Given the description of an element on the screen output the (x, y) to click on. 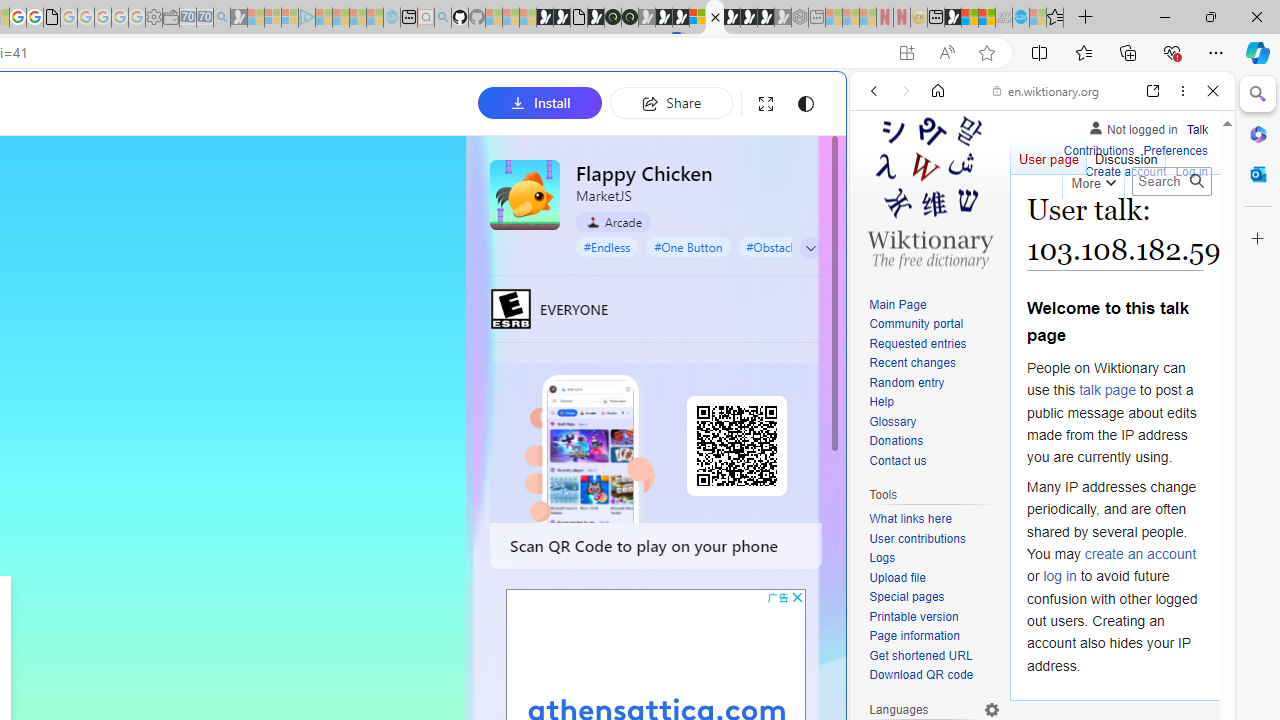
Play Cave FRVR in your browser | Games from Microsoft Start (663, 17)
Wiktionary (1034, 669)
Share (671, 102)
Help (881, 402)
This site scope (936, 180)
Close Customize pane (1258, 239)
Special pages (906, 596)
Arcade (613, 222)
#One Button (688, 246)
Preferences (1175, 151)
Recent changes (912, 362)
